Given the description of an element on the screen output the (x, y) to click on. 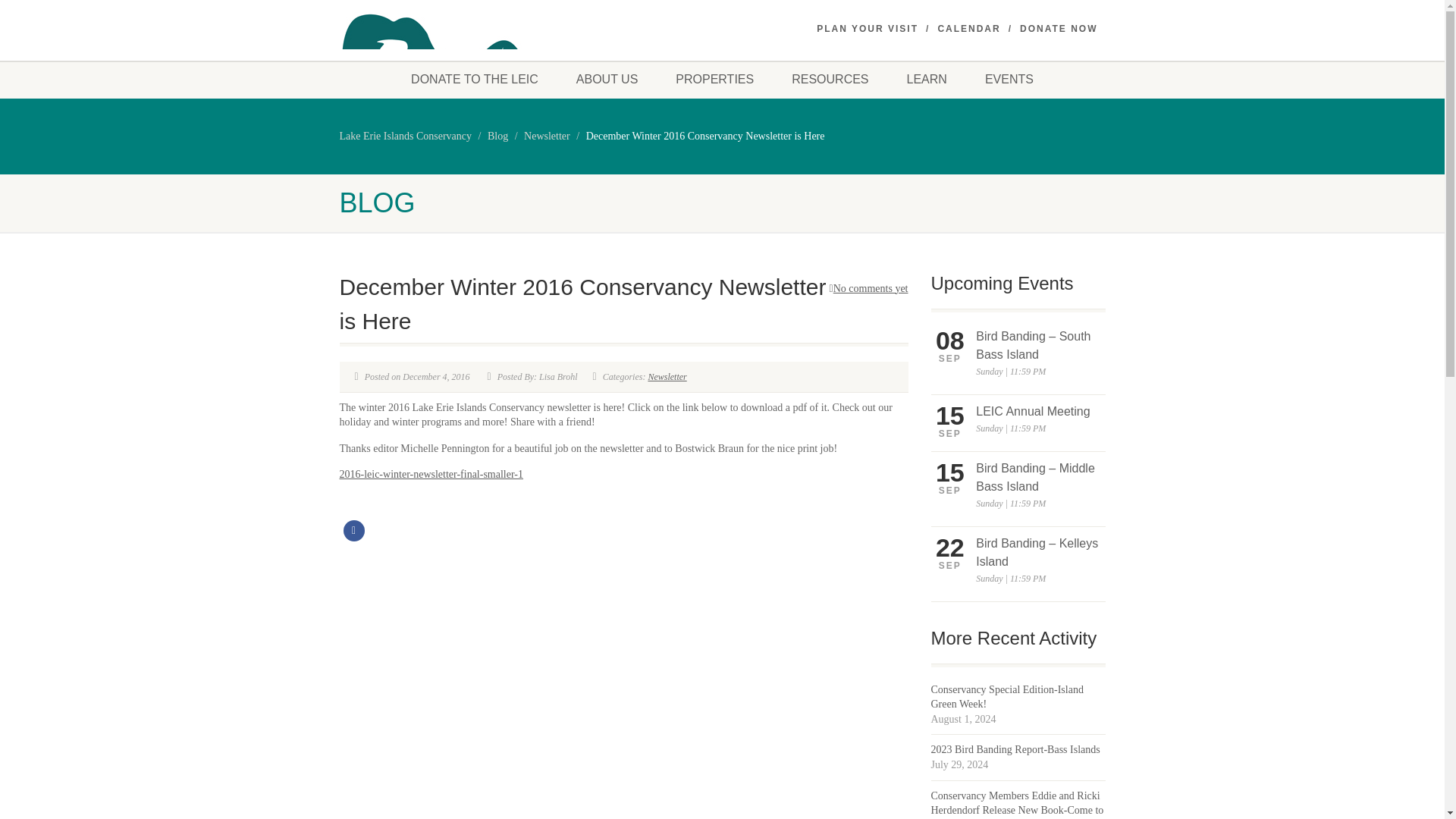
DONATE TO THE LEIC (474, 79)
ABOUT US (607, 79)
PLAN YOUR VISIT (867, 29)
EVENTS (1009, 79)
Go to the Newsletter Category archives. (547, 135)
Go to Blog. (497, 135)
PROPERTIES (714, 79)
DONATE NOW (1058, 29)
Lake Erie Islands Conservancy (405, 135)
Go to Lake Erie Islands Conservancy. (405, 135)
